Given the description of an element on the screen output the (x, y) to click on. 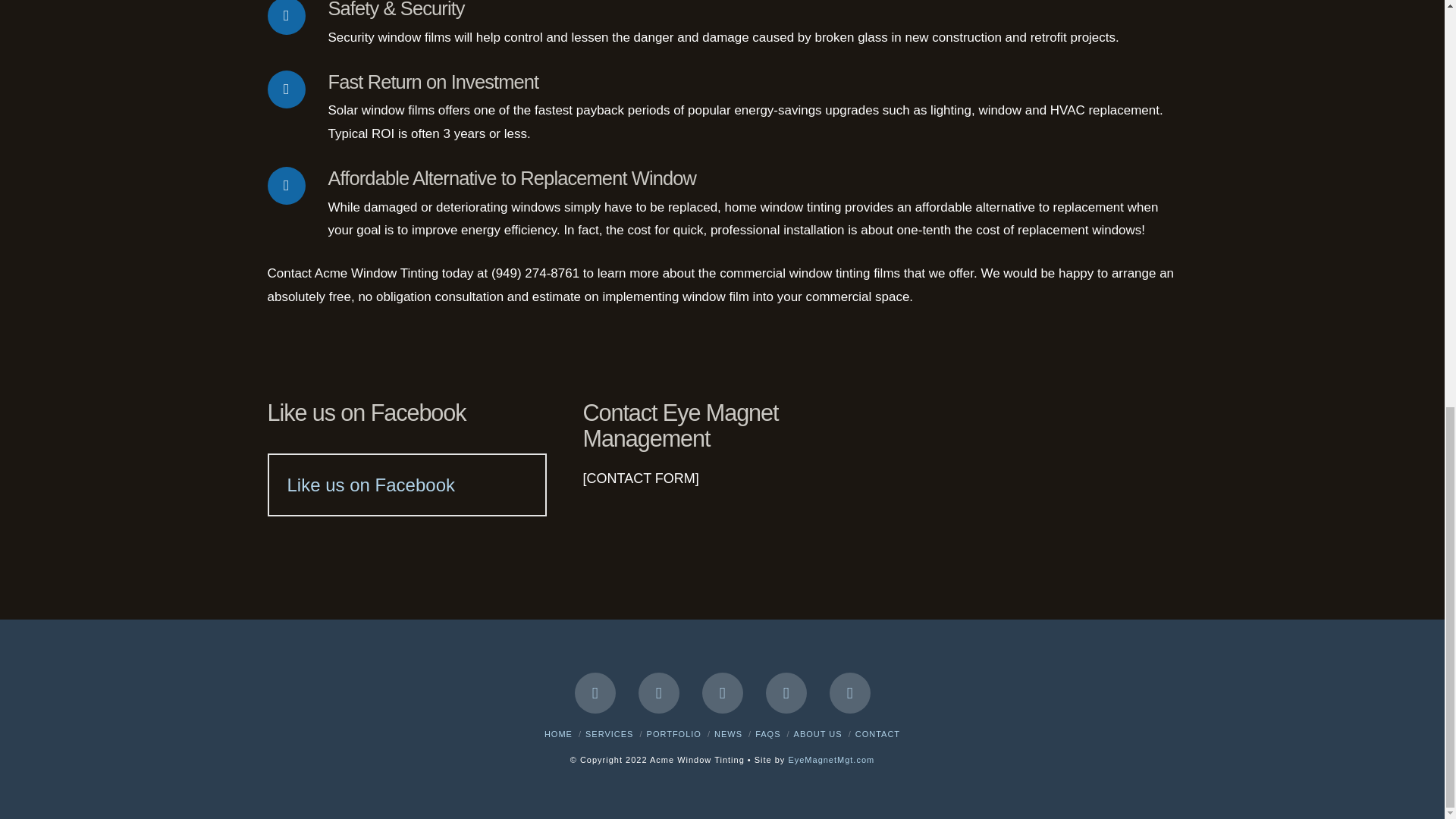
HOME (558, 733)
Like us on Facebook (365, 412)
CONTACT (877, 733)
Instagram (849, 692)
LinkedIn (785, 692)
Twitter (659, 692)
SERVICES (609, 733)
FAQS (767, 733)
PORTFOLIO (673, 733)
NEWS (728, 733)
Like us on Facebook (370, 485)
ABOUT US (818, 733)
EyeMagnetMgt.com (831, 759)
Facebook (595, 692)
